Given the description of an element on the screen output the (x, y) to click on. 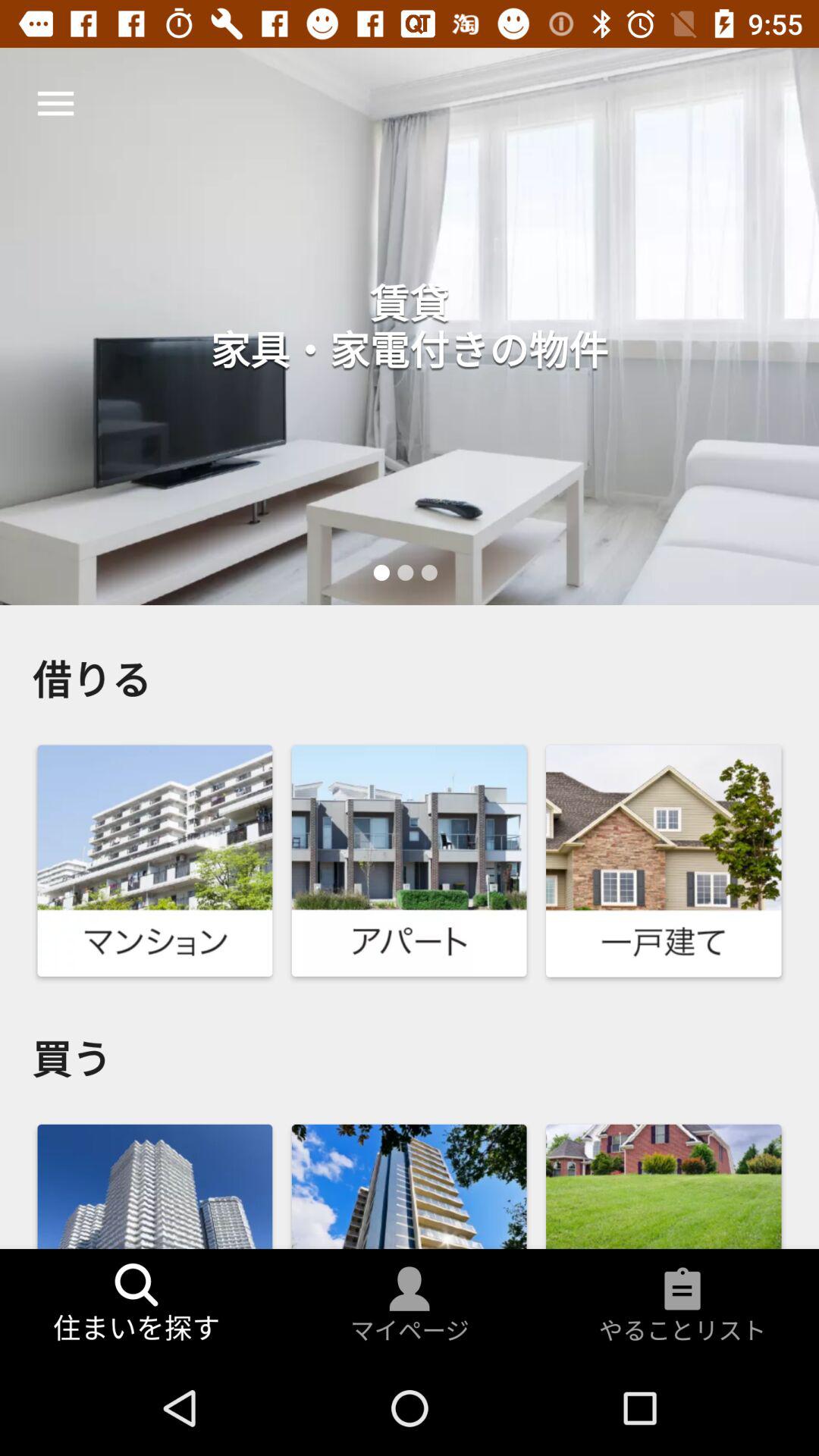
press the icon at the top left corner (55, 103)
